Given the description of an element on the screen output the (x, y) to click on. 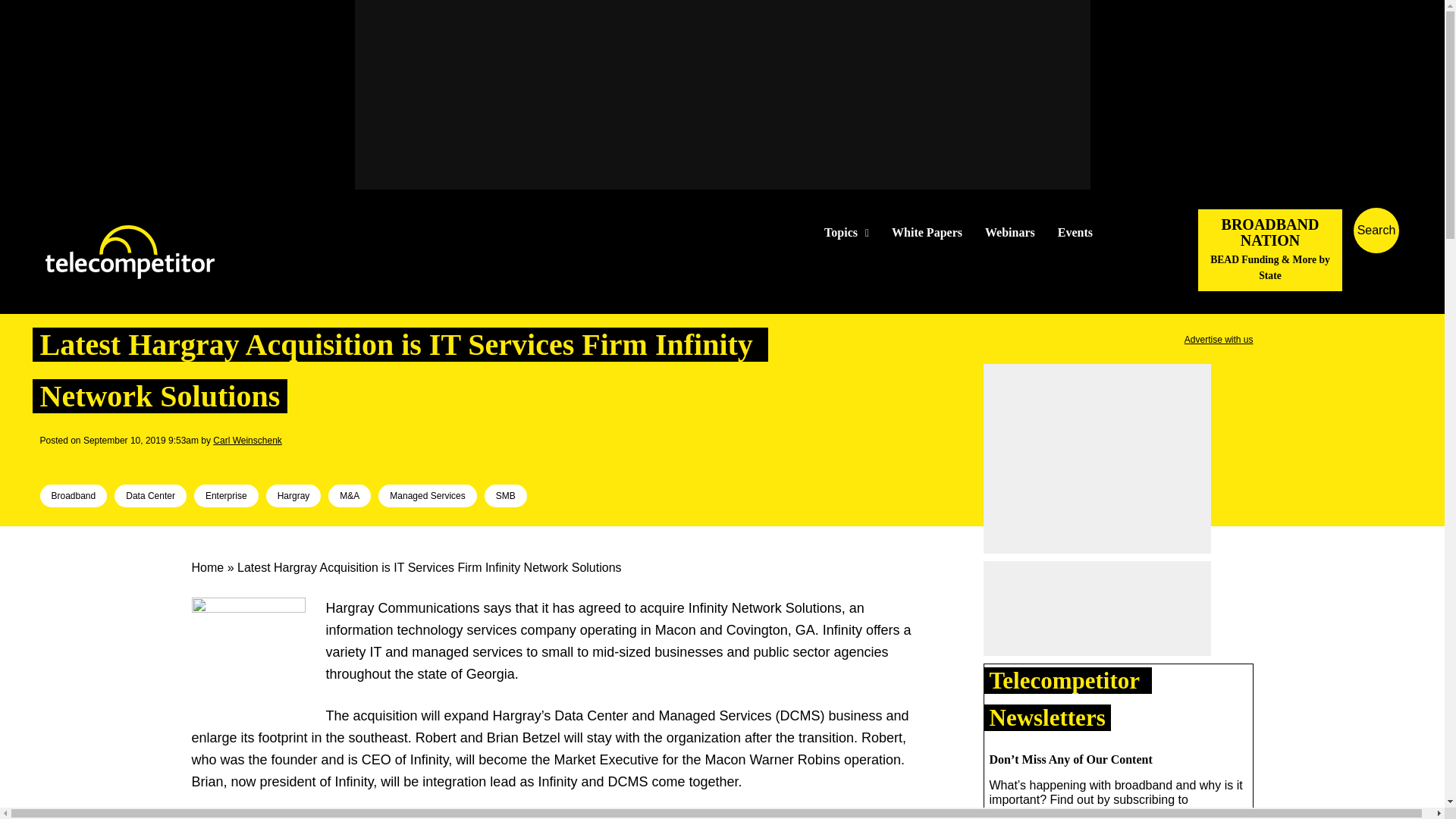
Topics (846, 232)
Pinterest (124, 460)
Webinars (1010, 232)
White Papers (927, 232)
Search telecompetitor.com (1376, 230)
Follow Us on LinkedIN (1151, 232)
Events (1074, 232)
Follow Us on Twitter (1127, 232)
Share on Facebook (51, 460)
Share on Linked In (99, 460)
Spread the word on Twitter (75, 460)
Search (1430, 253)
